Given the description of an element on the screen output the (x, y) to click on. 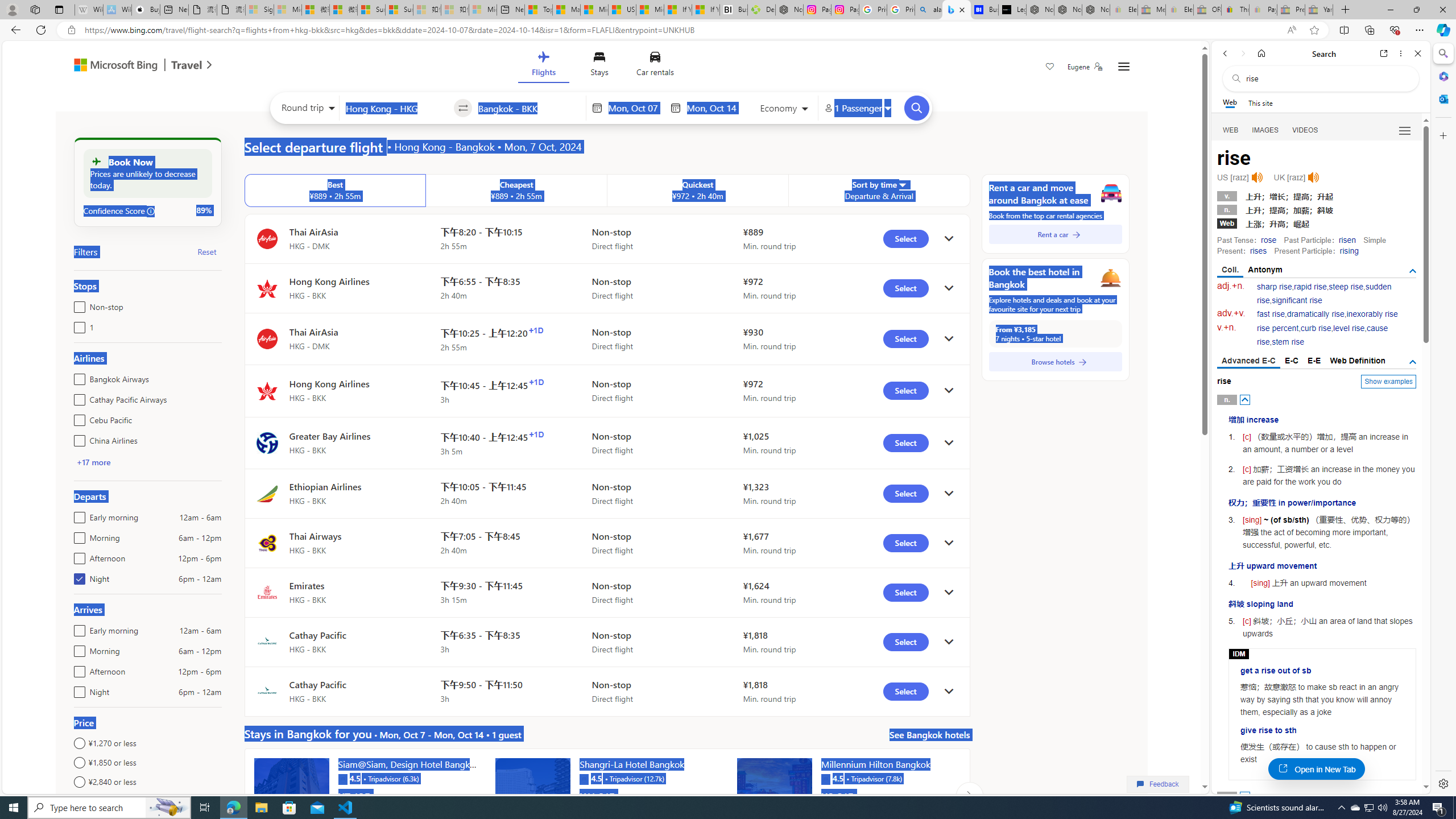
Marine life - MSN (566, 9)
AutomationID: tgsb (1412, 270)
steep rise (1345, 286)
Web scope (1230, 102)
rising (1348, 250)
risen (1347, 239)
Cathay Pacific Airways (76, 397)
E-E (1314, 360)
